Given the description of an element on the screen output the (x, y) to click on. 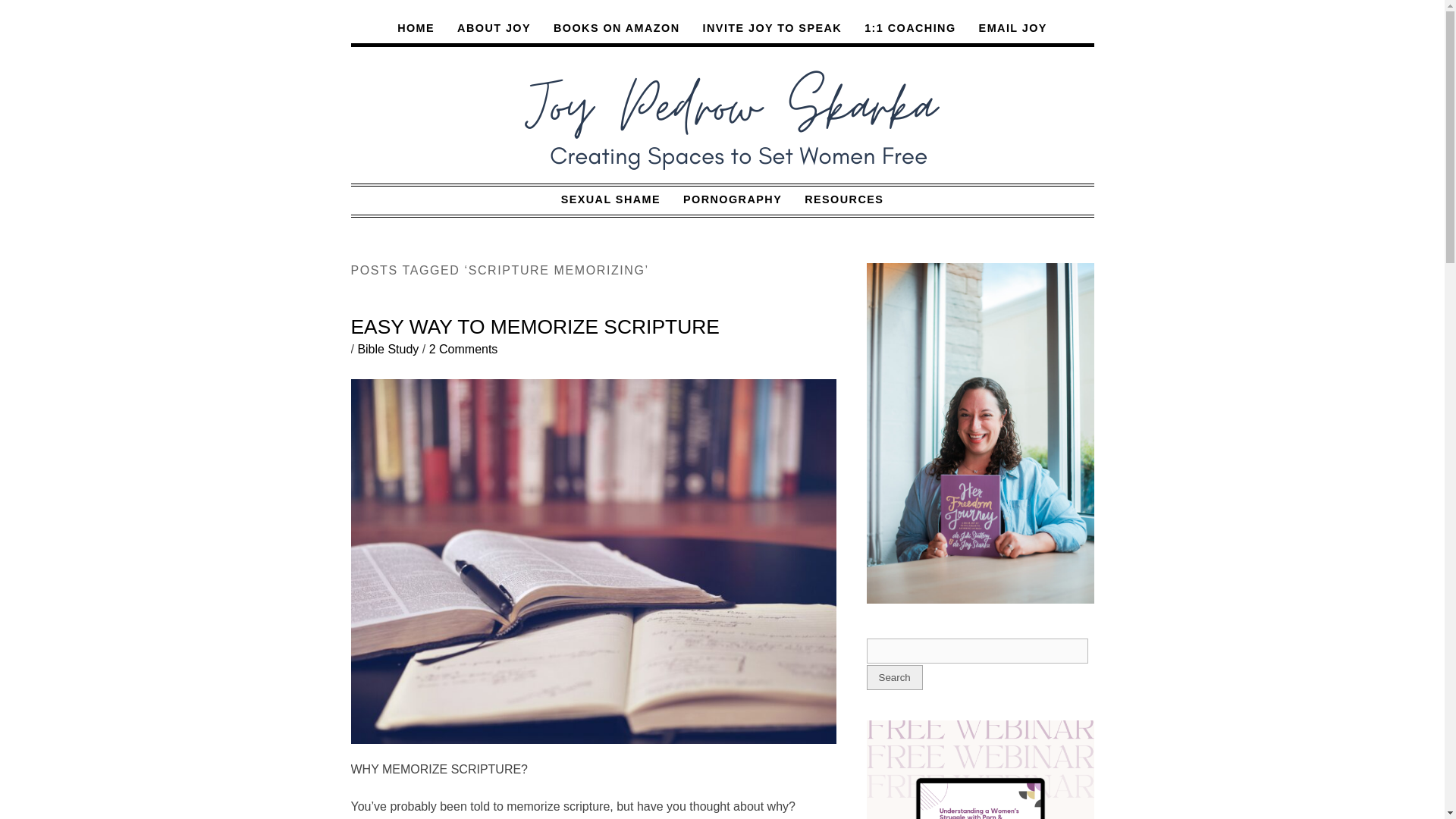
2 Comments (463, 349)
RESOURCES (844, 199)
HOME (415, 27)
SEXUAL SHAME (610, 199)
Search (893, 677)
EASY WAY TO MEMORIZE SCRIPTURE (534, 326)
Search (976, 650)
INVITE JOY TO SPEAK (772, 27)
EMAIL JOY (1013, 27)
Joy Skarka (721, 114)
